Given the description of an element on the screen output the (x, y) to click on. 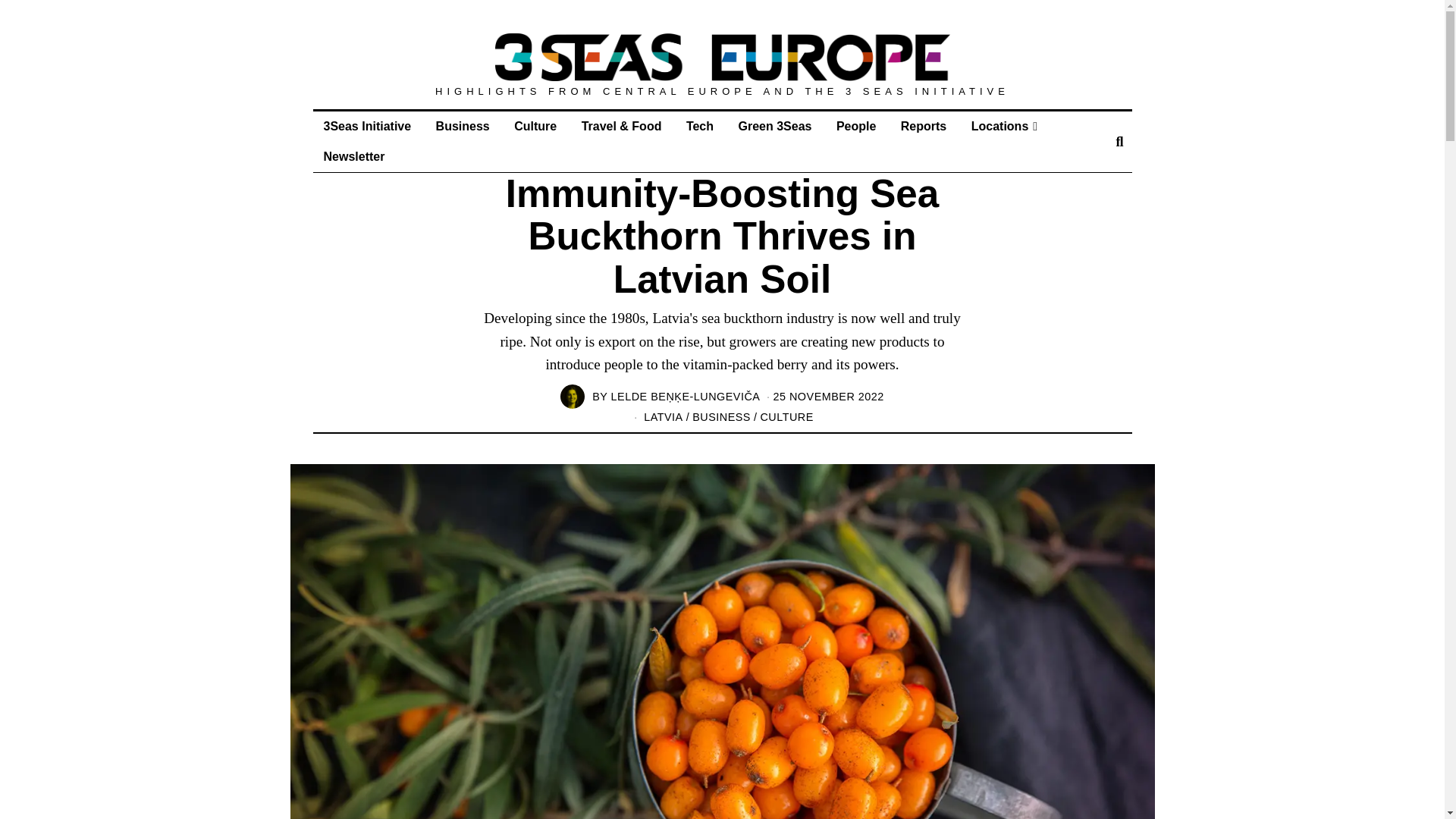
Reports (922, 126)
BUSINESS (722, 417)
CULTURE (786, 417)
Newsletter (353, 156)
People (855, 126)
Green 3Seas (774, 126)
3Seas Initiative (367, 126)
LATVIA (662, 417)
Tech (699, 126)
Culture (535, 126)
Locations (1004, 126)
Business (462, 126)
